Given the description of an element on the screen output the (x, y) to click on. 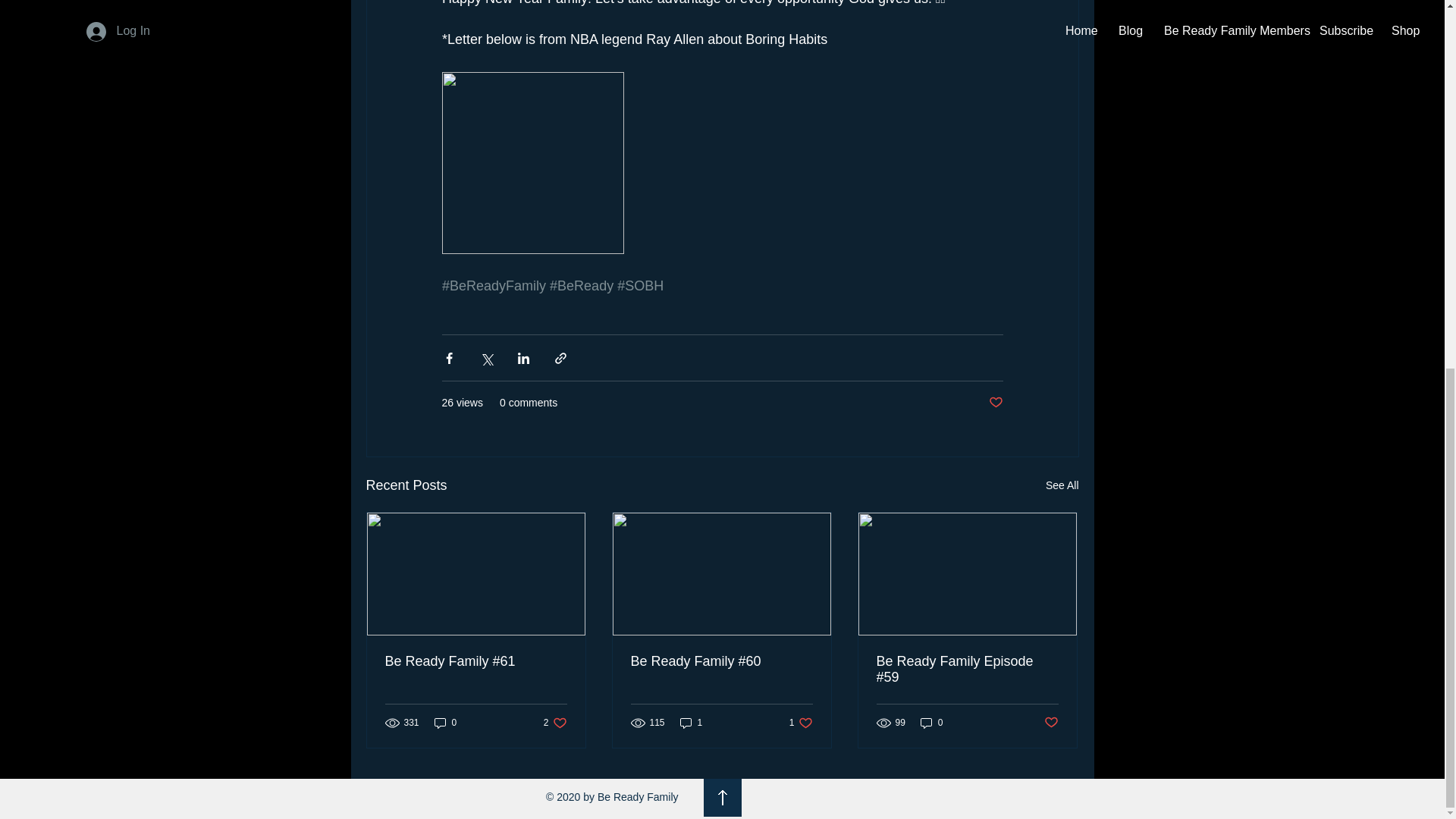
Post not marked as liked (995, 402)
0 (931, 722)
See All (800, 722)
1 (555, 722)
Post not marked as liked (1061, 485)
0 (691, 722)
